Given the description of an element on the screen output the (x, y) to click on. 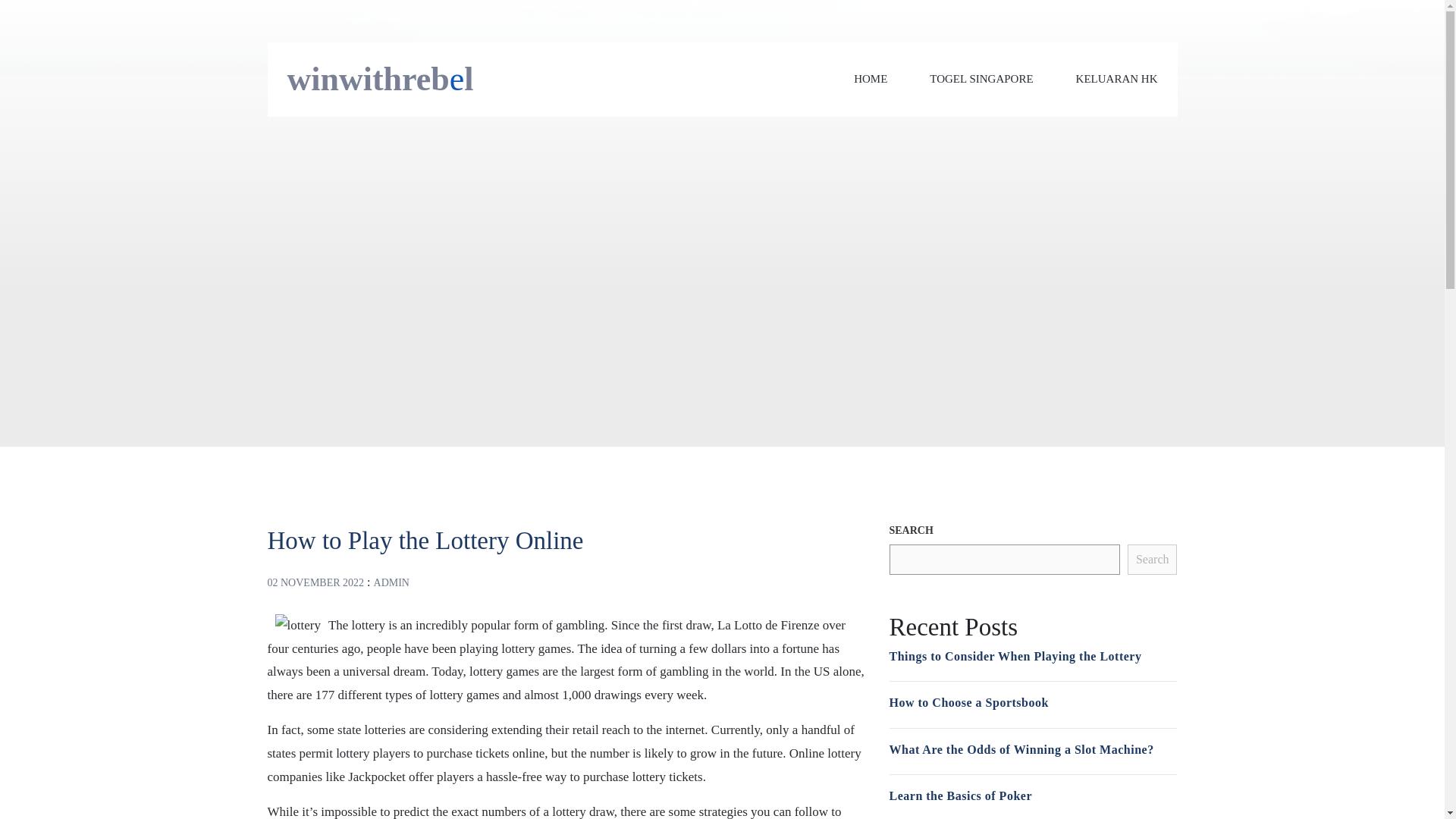
Learn the Basics of Poker (959, 795)
How to Choose a Sportsbook (968, 702)
Search (1151, 559)
02 NOVEMBER 2022 (315, 582)
TOGEL SINGAPORE (981, 78)
KELUARAN HK (1116, 78)
winwithrebel (379, 78)
ADMIN (391, 582)
What Are the Odds of Winning a Slot Machine? (1020, 748)
HOME (869, 78)
Things to Consider When Playing the Lottery (1014, 655)
